Given the description of an element on the screen output the (x, y) to click on. 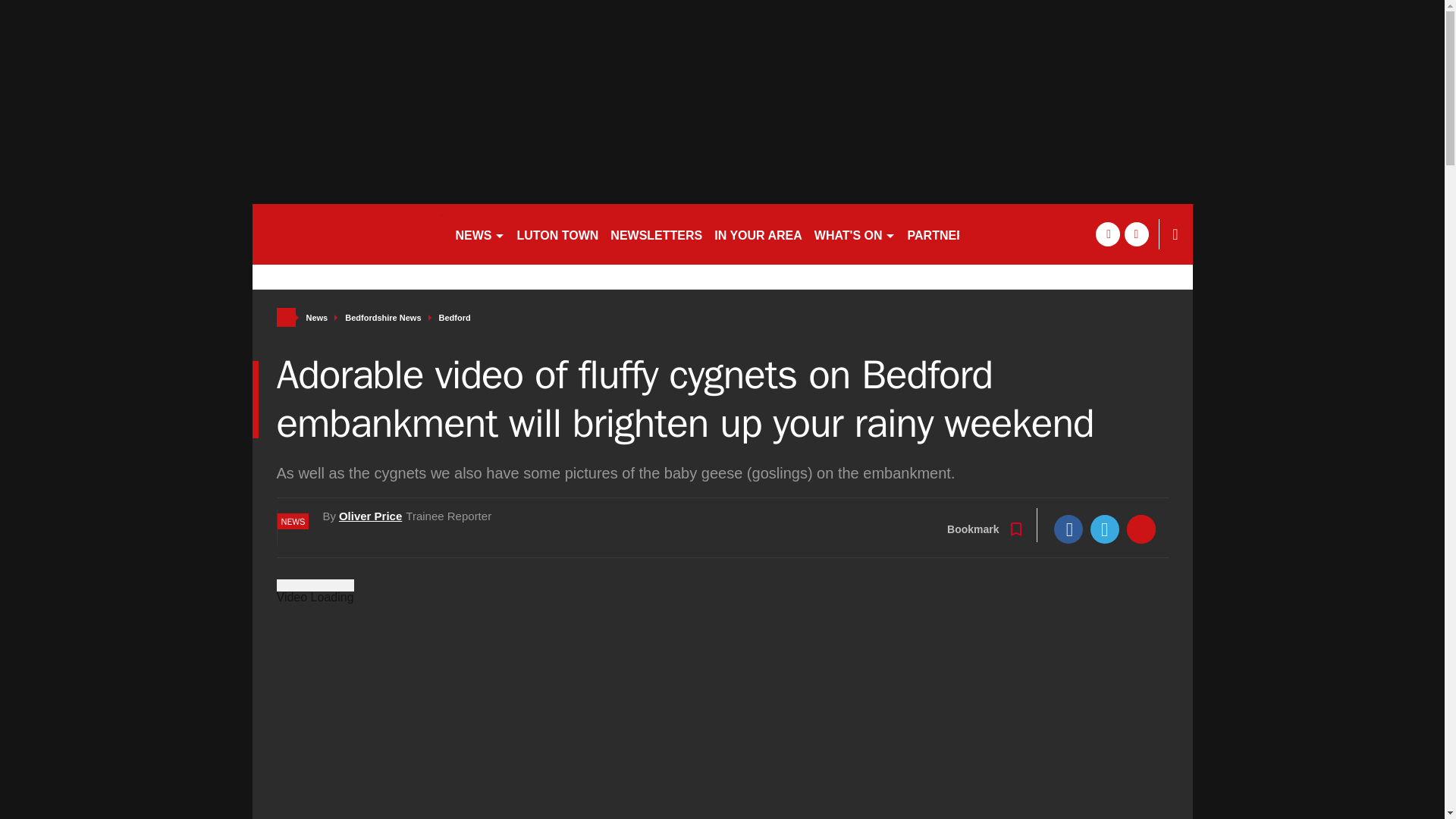
twitter (1136, 233)
Facebook (1068, 529)
LUTON TOWN (558, 233)
Twitter (1104, 529)
WHAT'S ON (854, 233)
bedfordshirelive (346, 233)
facebook (1106, 233)
PARTNER STORIES (964, 233)
IN YOUR AREA (757, 233)
NEWSLETTERS (655, 233)
NEWS (479, 233)
